Given the description of an element on the screen output the (x, y) to click on. 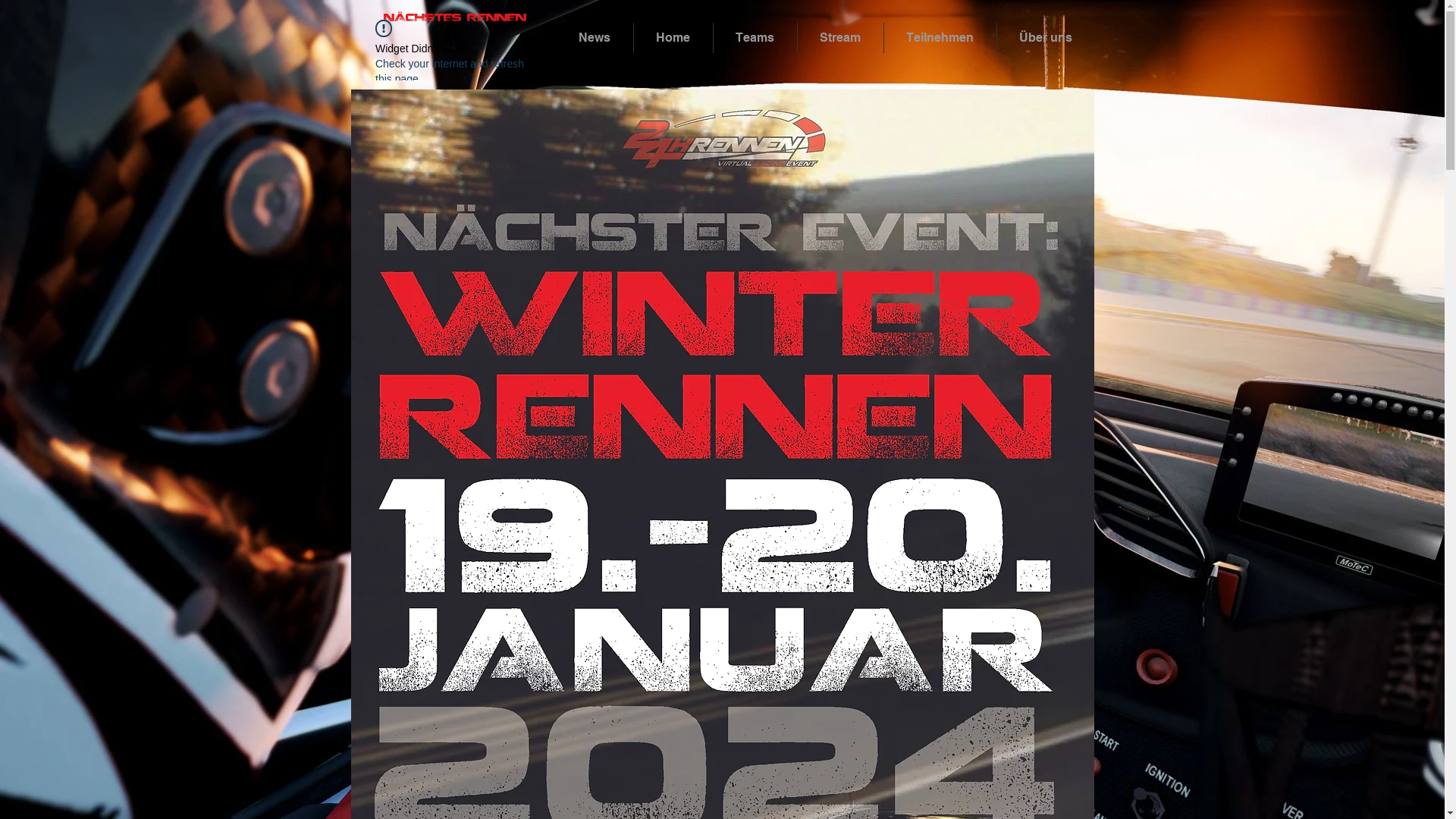
News Element type: text (594, 37)
Stream Element type: text (840, 37)
Teams Element type: text (754, 37)
Teilnehmen Element type: text (940, 37)
Home Element type: text (672, 37)
